Given the description of an element on the screen output the (x, y) to click on. 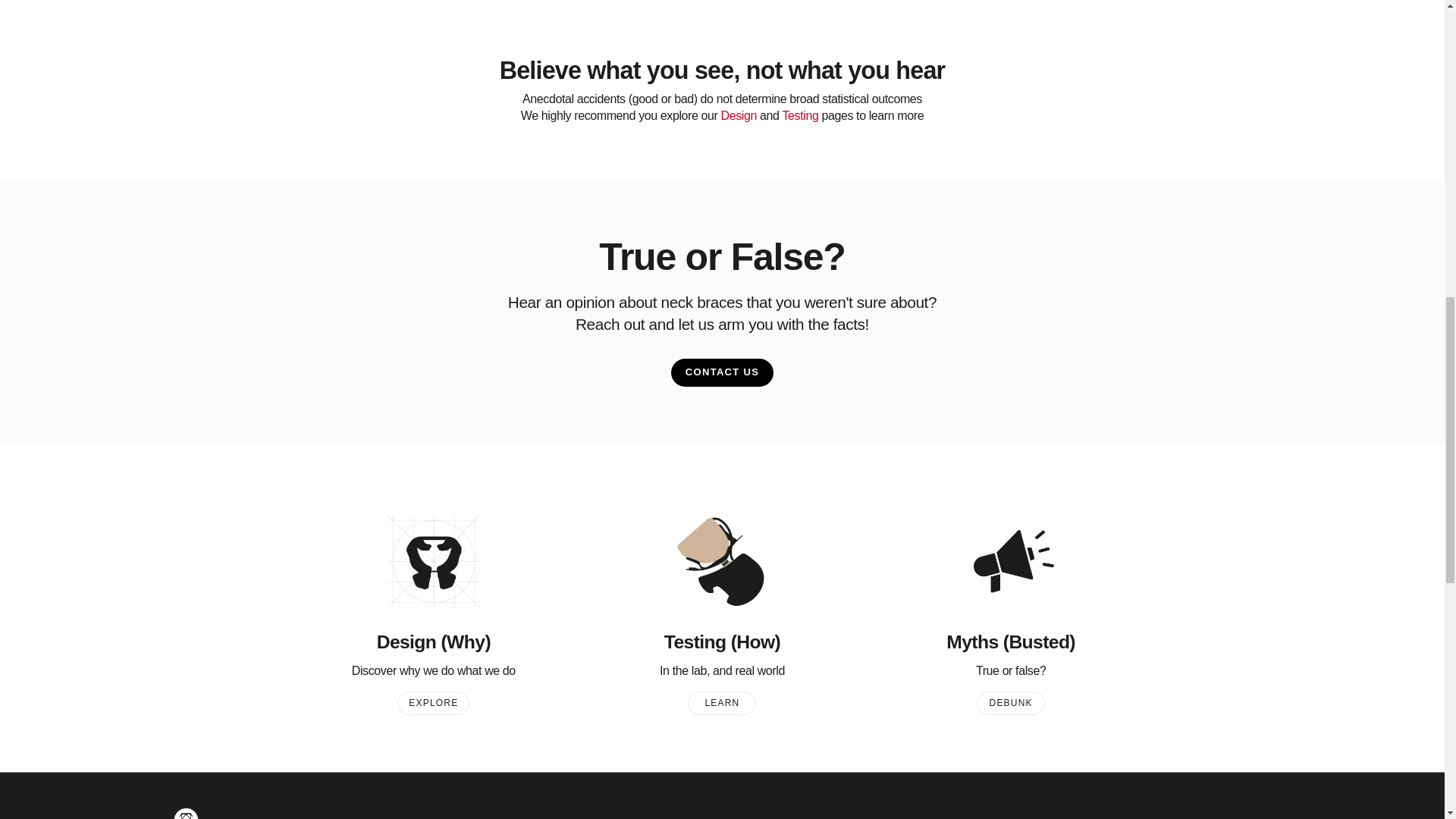
Design (737, 115)
Testing (800, 115)
